Given the description of an element on the screen output the (x, y) to click on. 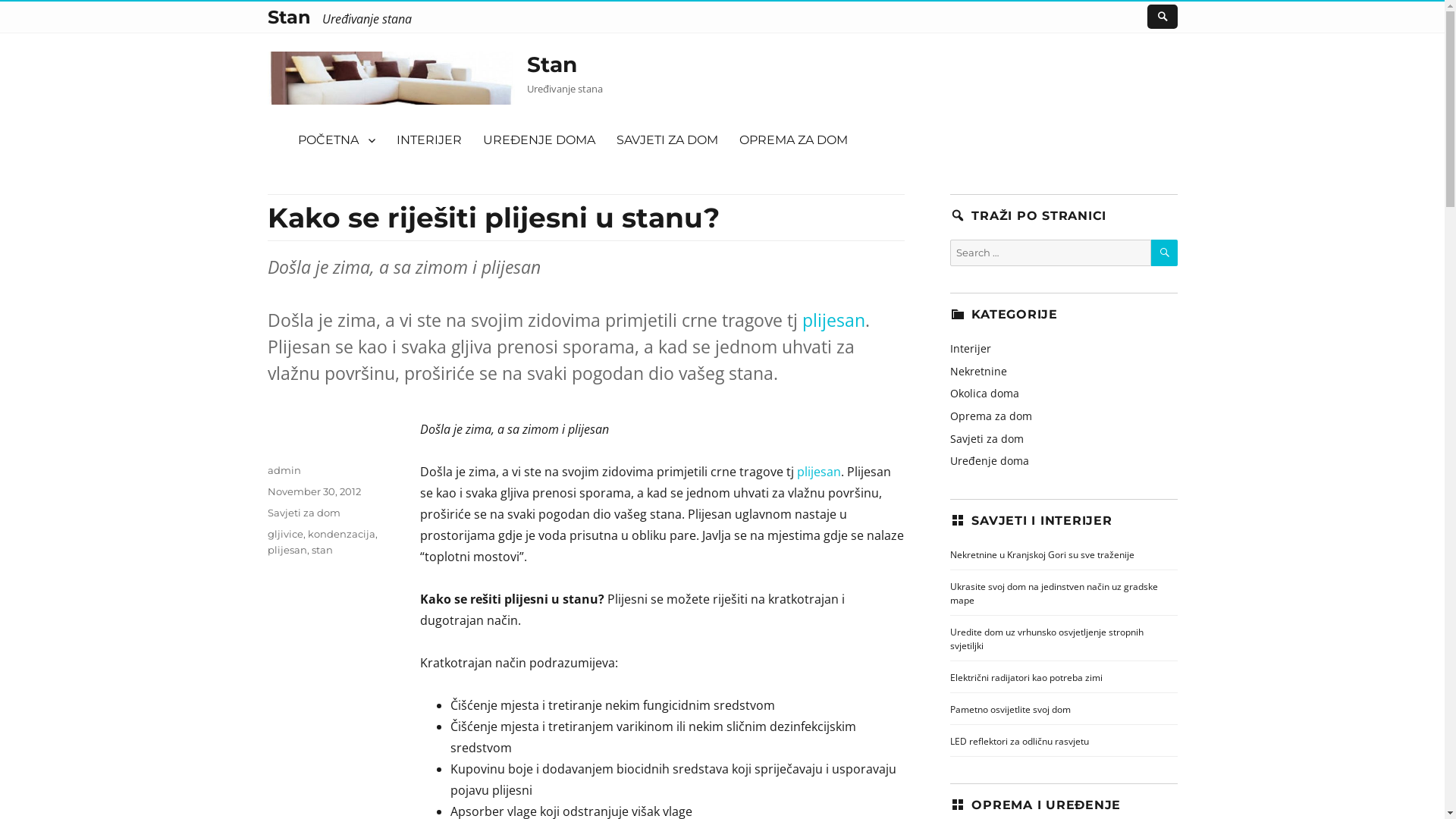
stan Element type: text (321, 549)
Interijer Element type: text (969, 348)
INTERIJER Element type: text (428, 140)
Savjeti za dom Element type: text (302, 512)
gljivice Element type: text (284, 533)
admin Element type: text (283, 470)
Oprema za dom Element type: text (990, 415)
November 30, 2012 Element type: text (313, 491)
Savjeti za dom Element type: text (985, 438)
plijesan Element type: text (833, 319)
Pametno osvijetlite svoj dom Element type: text (1009, 708)
SAVJETI ZA DOM Element type: text (666, 140)
Nekretnine Element type: text (977, 371)
plijesan Element type: text (286, 549)
Uredite dom uz vrhunsko osvjetljenje stropnih svjetiljki Element type: text (1045, 638)
Stan Element type: text (552, 64)
OPREMA ZA DOM Element type: text (792, 140)
Search for: Element type: hover (1049, 252)
kondenzacija Element type: text (341, 533)
Okolica doma Element type: text (983, 392)
SEARCH Element type: text (1164, 252)
plijesan Element type: text (818, 471)
